Given the description of an element on the screen output the (x, y) to click on. 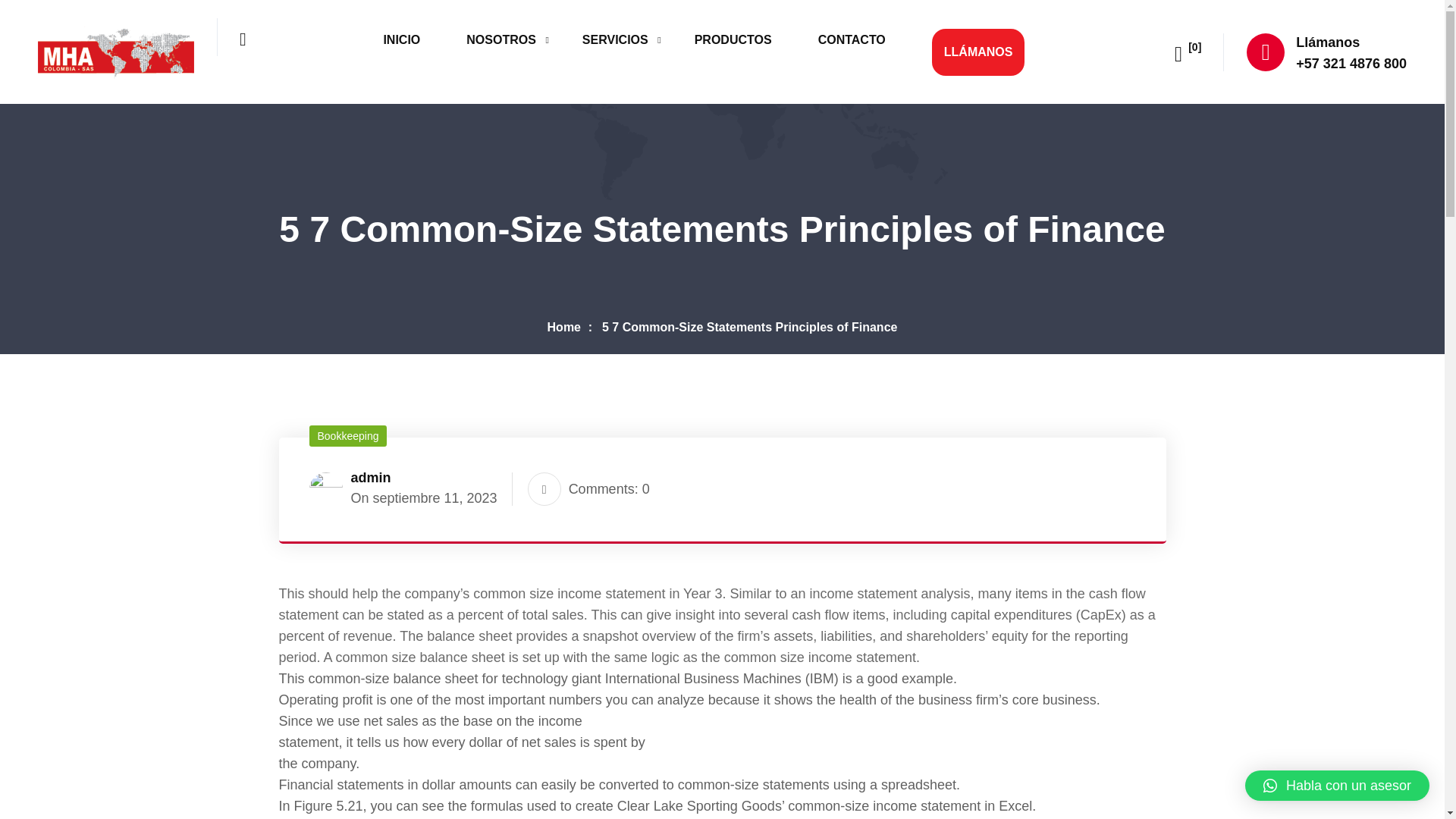
INICIO (407, 39)
NOSOTROS (506, 39)
Servicios (621, 39)
Contacto (858, 39)
SERVICIOS (621, 39)
Nosotros (506, 39)
MHA - COLOMBIA SAS (115, 50)
CONTACTO (858, 39)
Productos (739, 39)
Inicio (407, 39)
PRODUCTOS (739, 39)
